Given the description of an element on the screen output the (x, y) to click on. 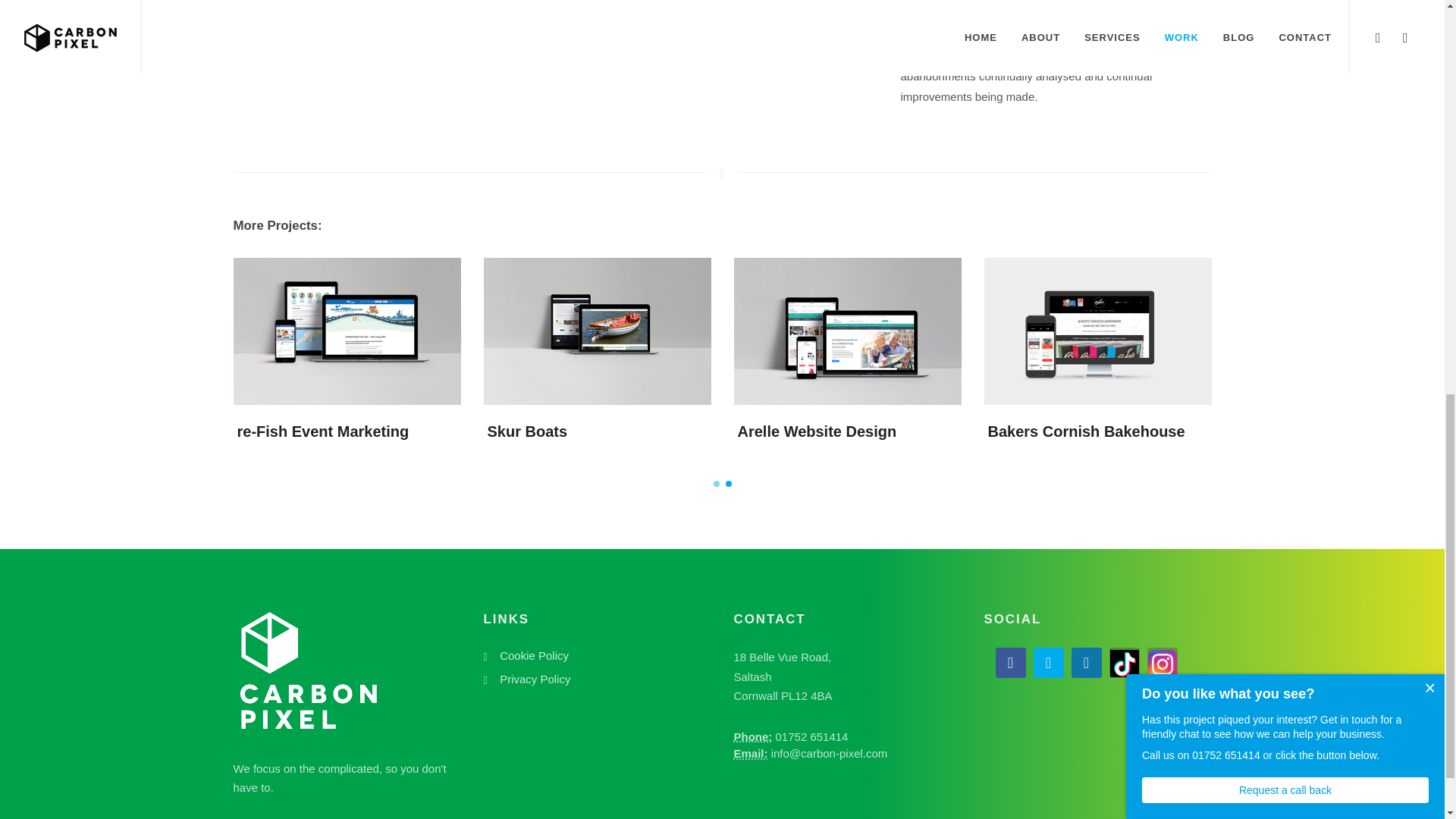
Email Address (750, 753)
re-Fish Event Marketing (322, 431)
Phone Number (753, 736)
Skur Boats (526, 431)
Arelle Website Design (816, 431)
